Given the description of an element on the screen output the (x, y) to click on. 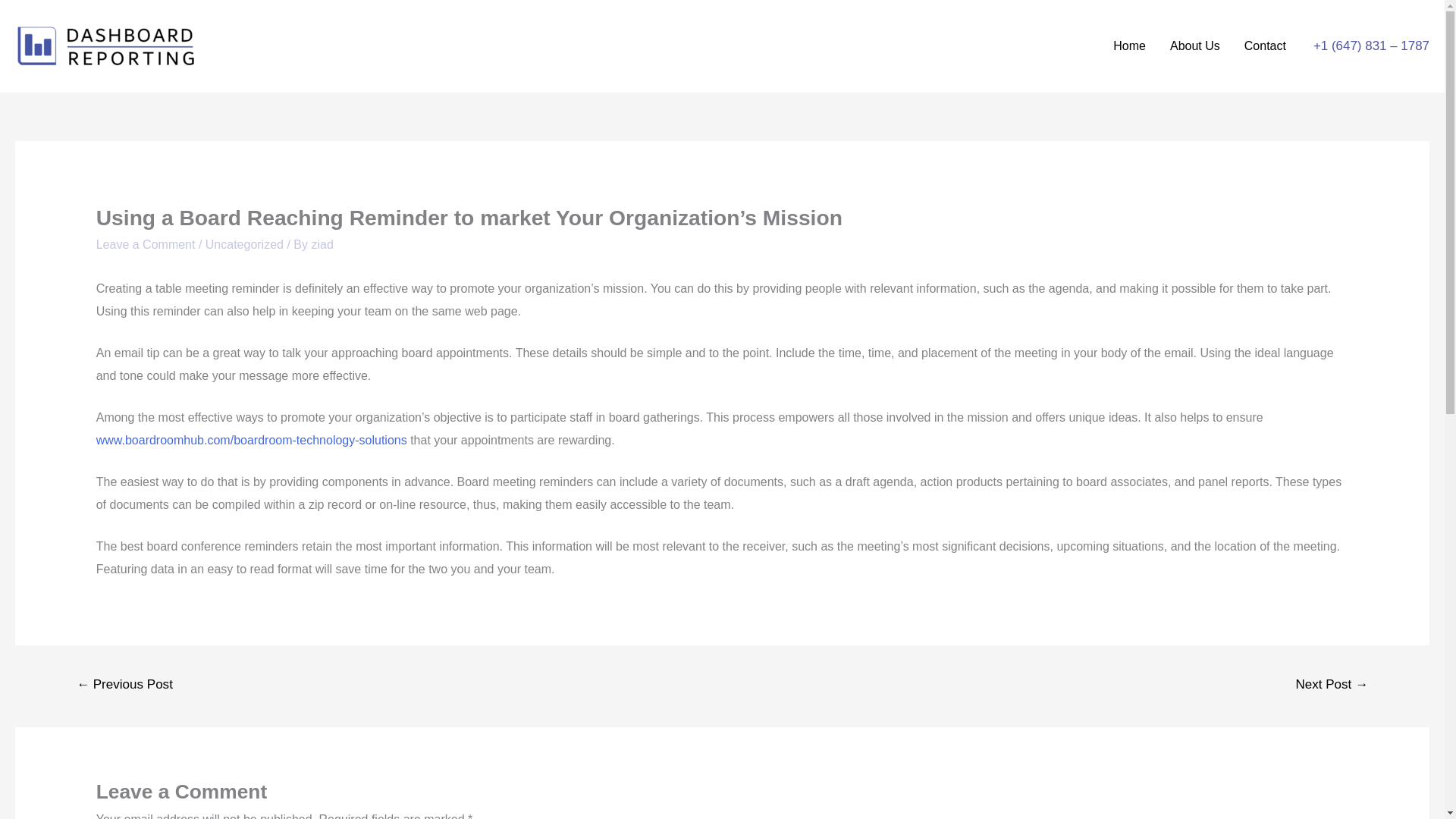
About Us (1194, 45)
Home (1128, 45)
Contact (1264, 45)
View all posts by ziad (322, 244)
Leave a Comment (145, 244)
Uncategorized (244, 244)
ziad (322, 244)
